Given the description of an element on the screen output the (x, y) to click on. 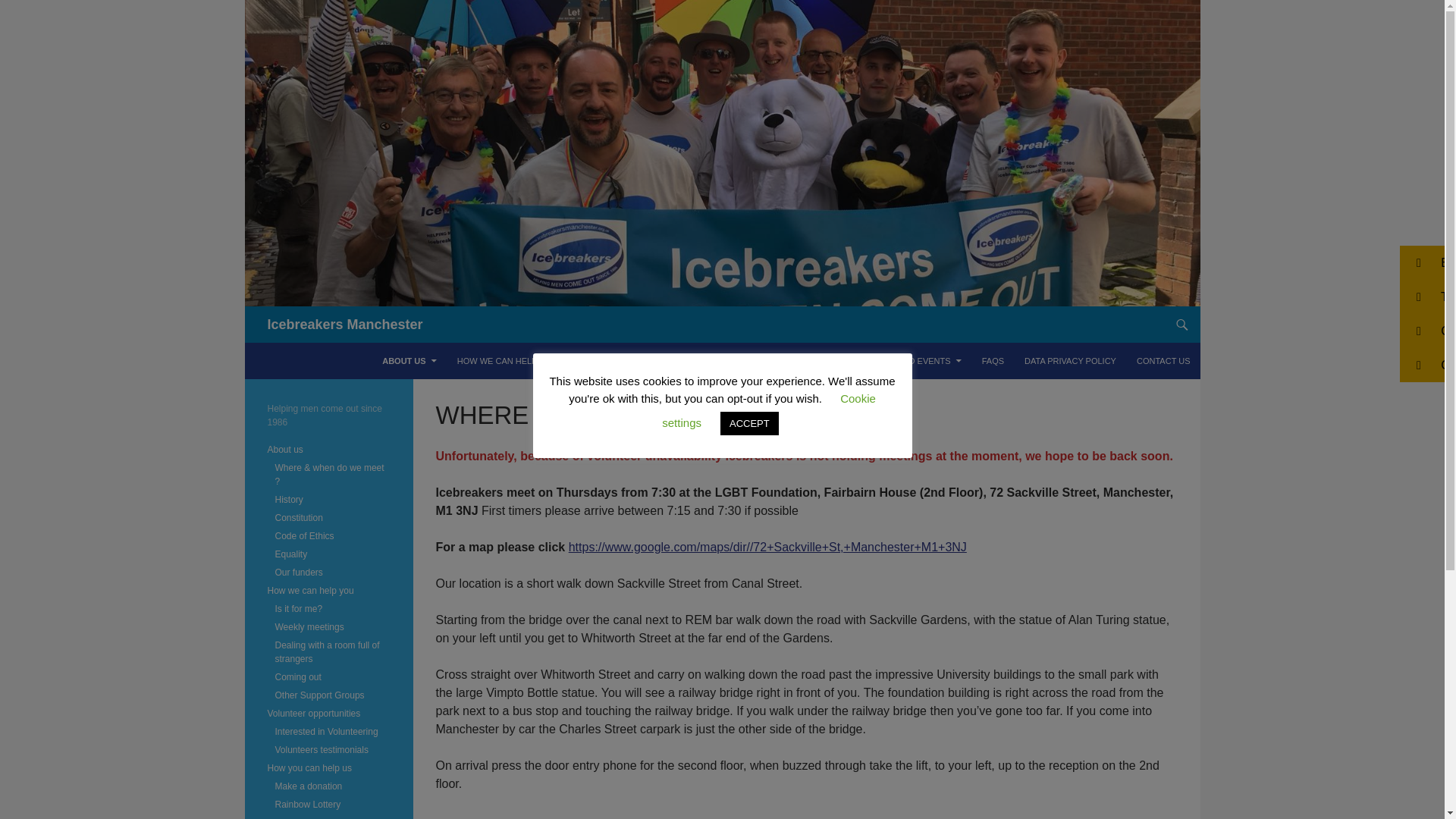
Equality (291, 553)
VOLUNTEER OPPORTUNITIES (654, 361)
FAQS (992, 361)
Icebreakers Manchester (344, 324)
HOW WE CAN HELP YOU (512, 361)
History (288, 499)
About us (284, 449)
Code of Ethics (304, 535)
NEWS AND EVENTS (916, 361)
HOW YOU CAN HELP US (795, 361)
DATA PRIVACY POLICY (1069, 361)
CONTACT US (1162, 361)
Our funders (298, 572)
ABOUT US (408, 361)
